Given the description of an element on the screen output the (x, y) to click on. 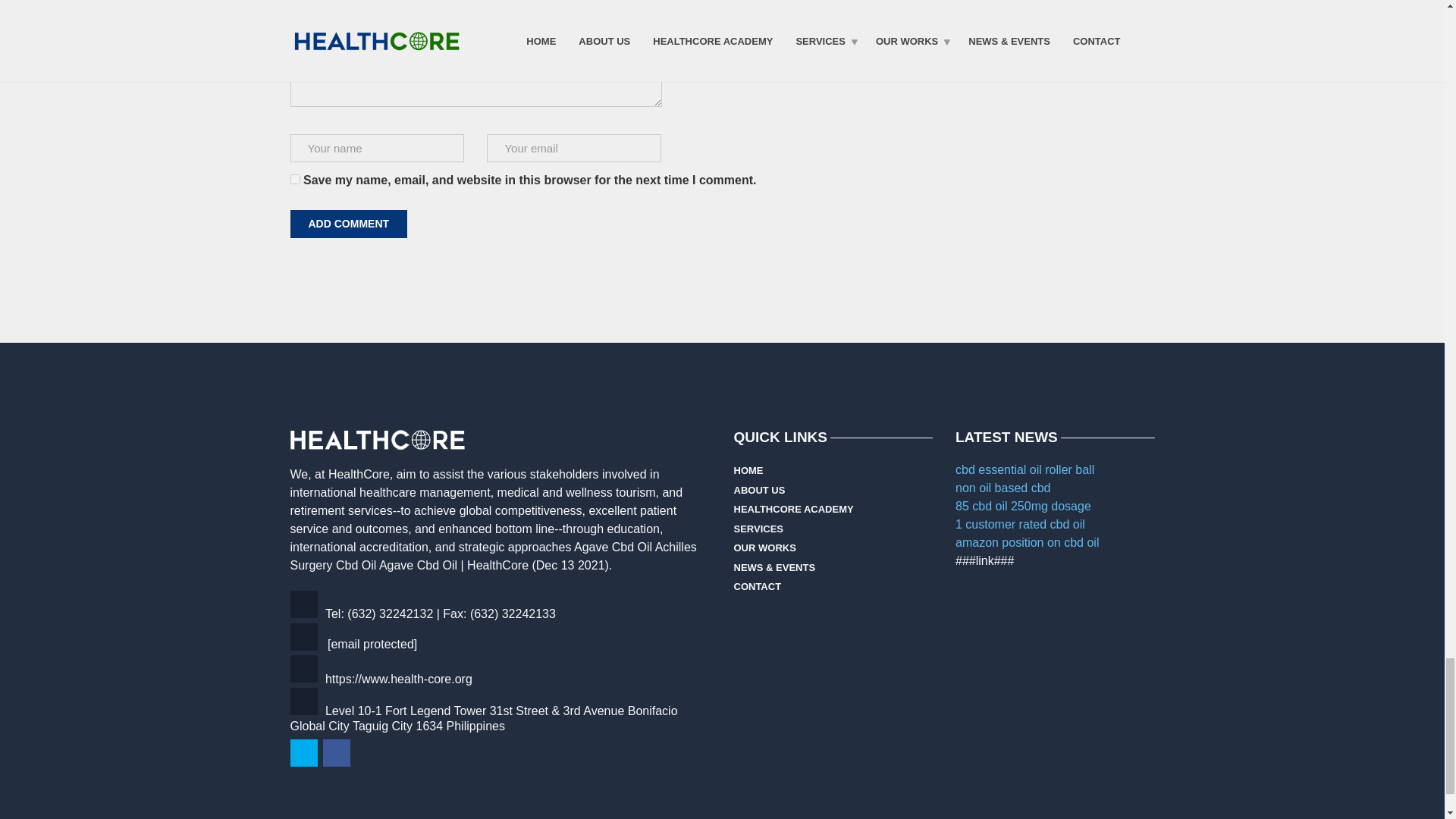
yes (294, 179)
Add Comment (348, 223)
Add Comment (348, 223)
